Given the description of an element on the screen output the (x, y) to click on. 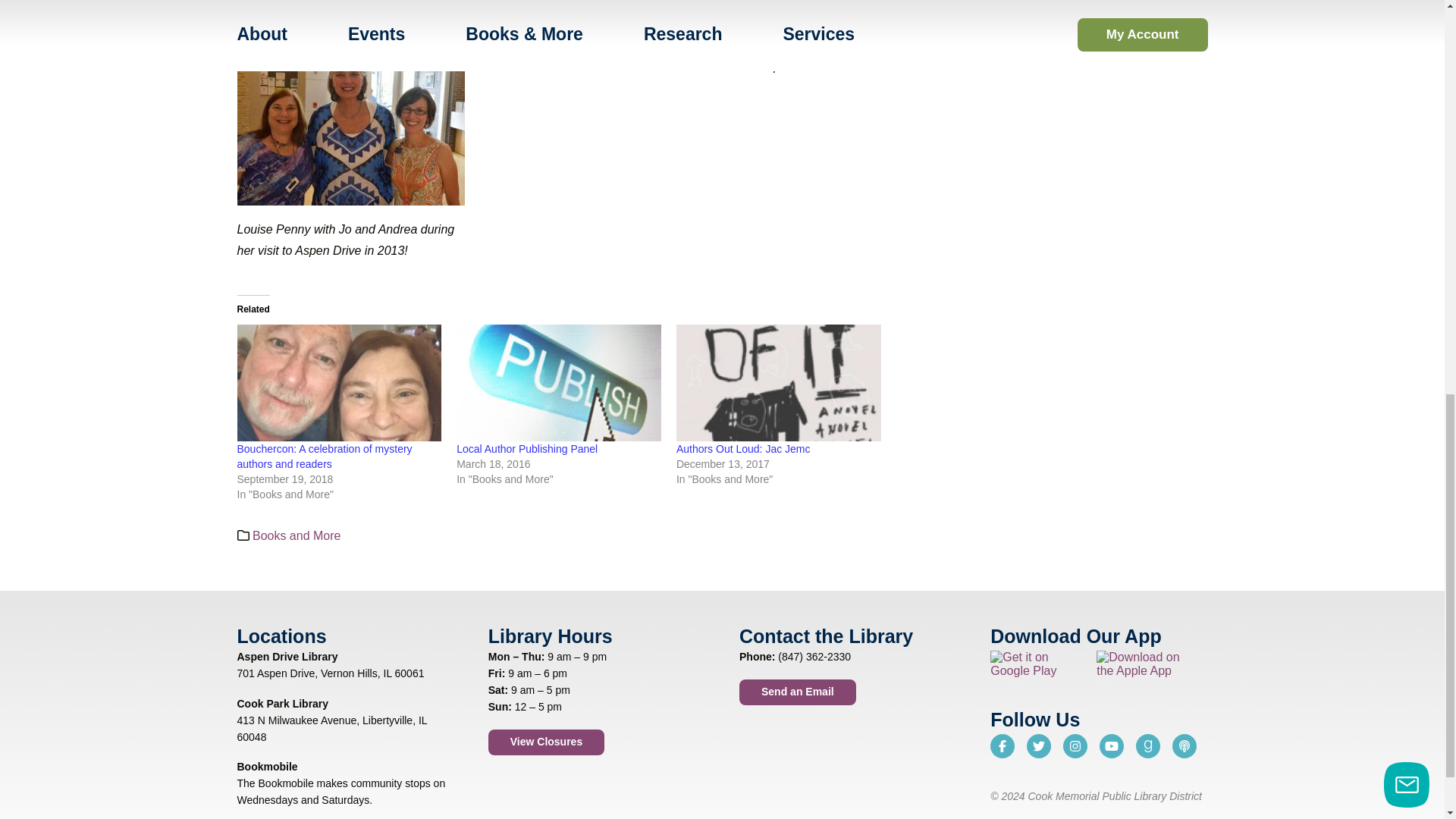
Local Author Publishing Panel (559, 382)
Authors Out Loud: Jac Jemc (743, 449)
Local Author Publishing Panel (526, 449)
Bouchercon: A celebration of mystery authors and readers (338, 382)
Bouchercon: A celebration of mystery authors and readers (323, 456)
Authors Out Loud: Jac Jemc (778, 382)
